Given the description of an element on the screen output the (x, y) to click on. 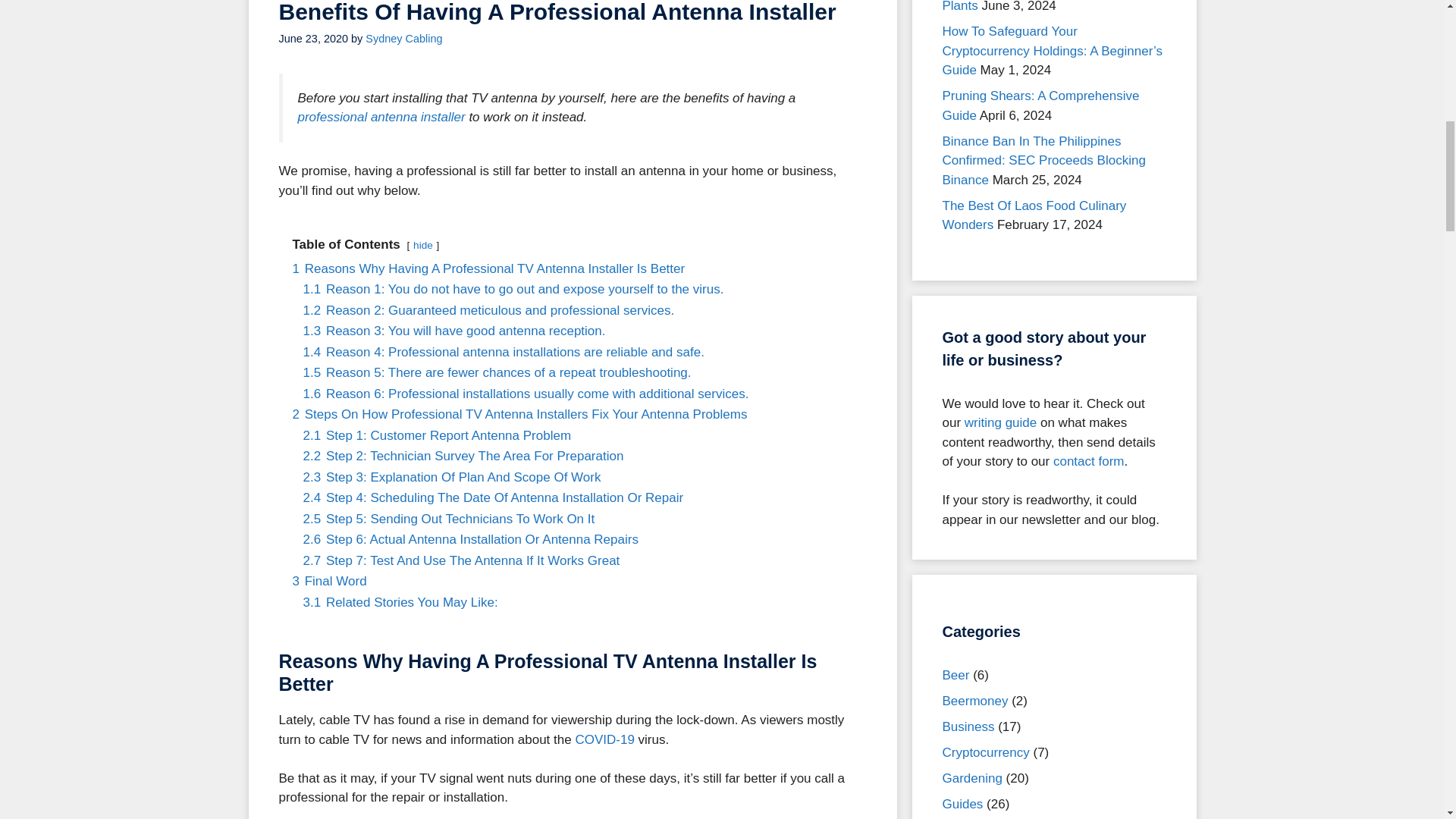
hide (422, 244)
Sydney Cabling (403, 38)
View all posts by Sydney Cabling (403, 38)
2.3 Step 3: Explanation Of Plan And Scope Of Work (451, 477)
